Given the description of an element on the screen output the (x, y) to click on. 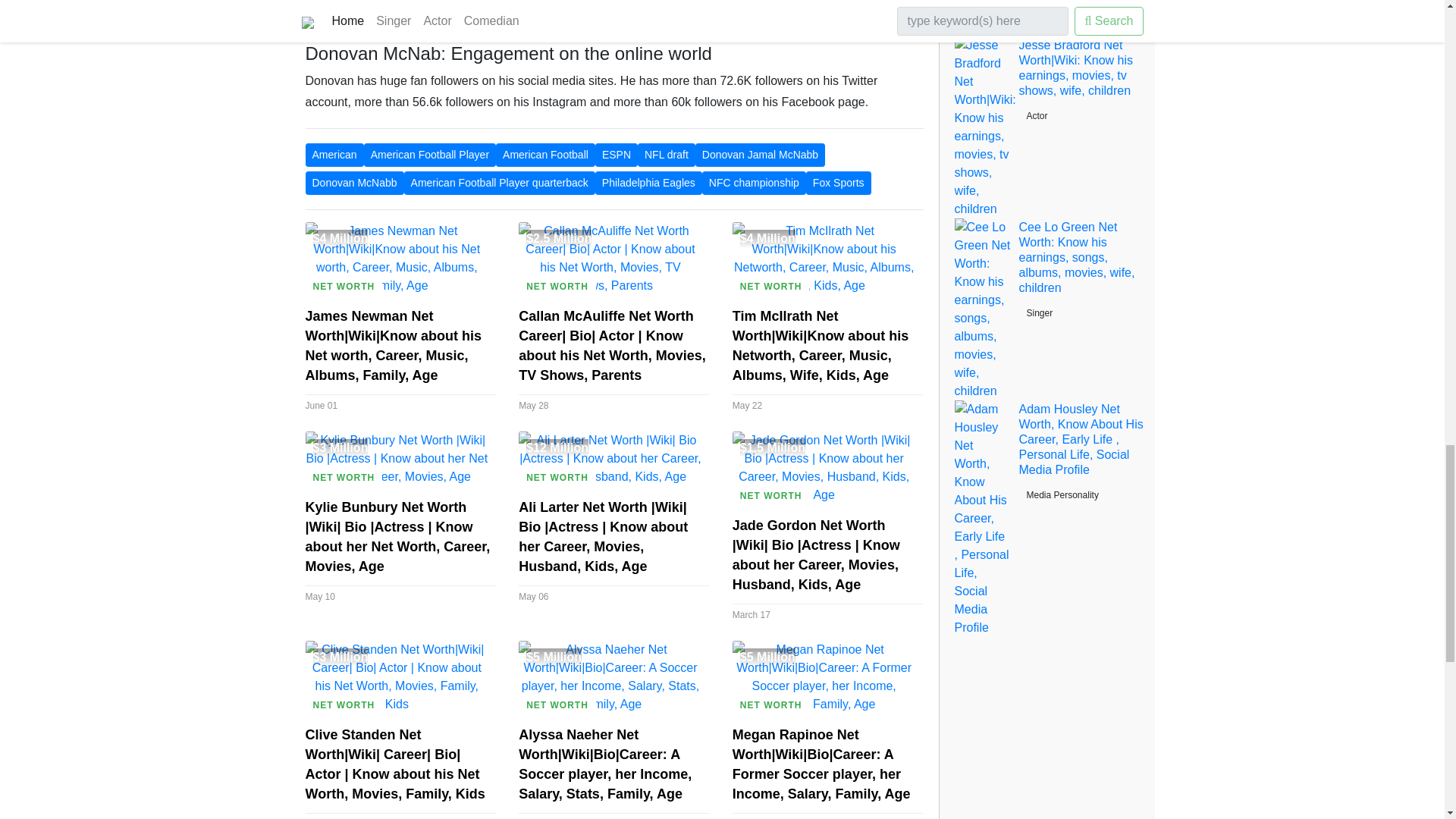
Philadelphia Eagles (648, 182)
American (333, 155)
NET WORTH (556, 286)
American Football Player quarterback (499, 182)
NFL draft (666, 155)
NET WORTH (556, 477)
ESPN (616, 155)
NET WORTH (342, 477)
Donovan McNabb (353, 182)
Donovan Jamal McNabb (760, 155)
NET WORTH (770, 286)
American Football (545, 155)
Fox Sports (838, 182)
NET WORTH (342, 286)
NFC championship (753, 182)
